Given the description of an element on the screen output the (x, y) to click on. 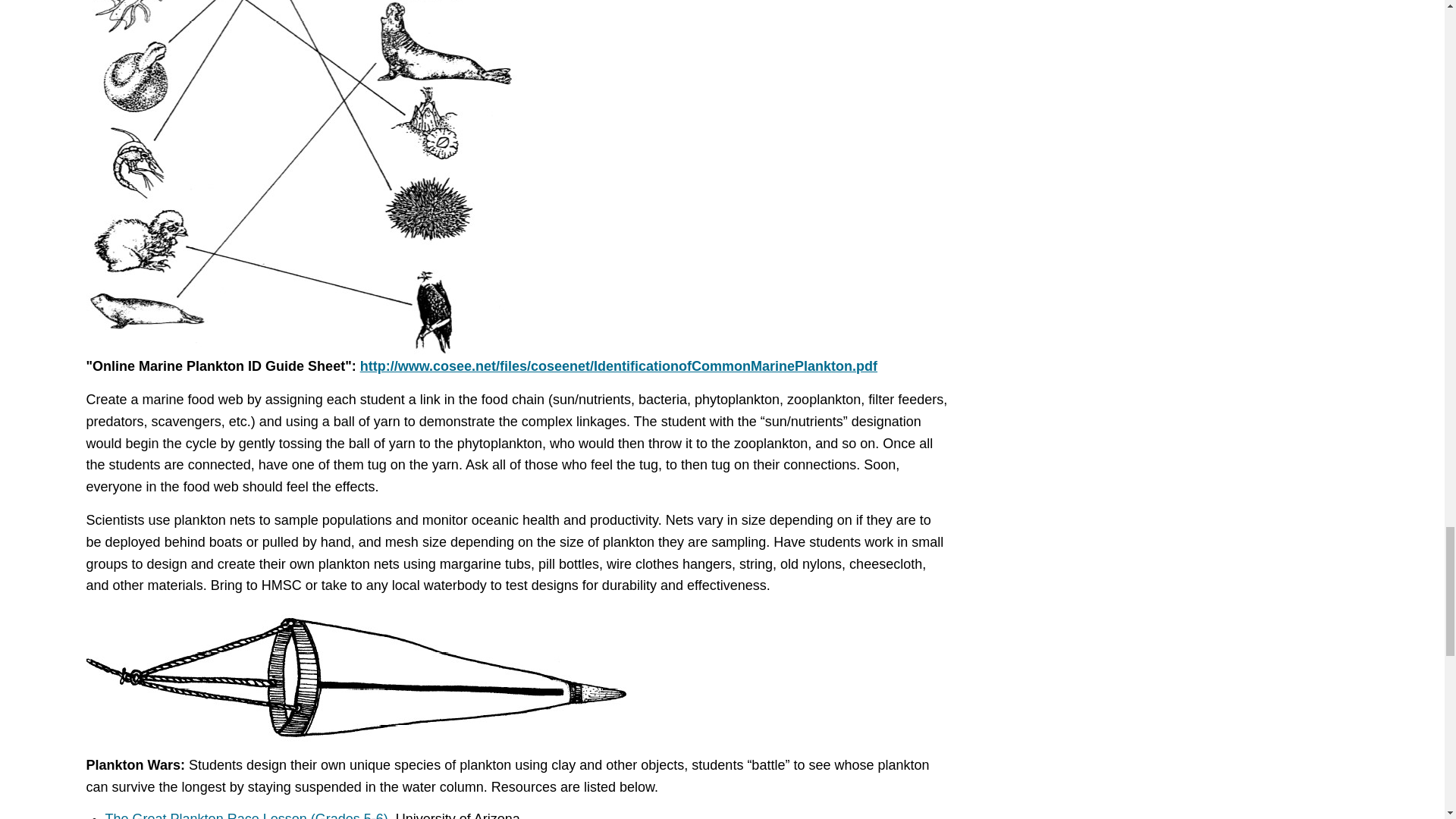
A plankton net. (357, 675)
